Given the description of an element on the screen output the (x, y) to click on. 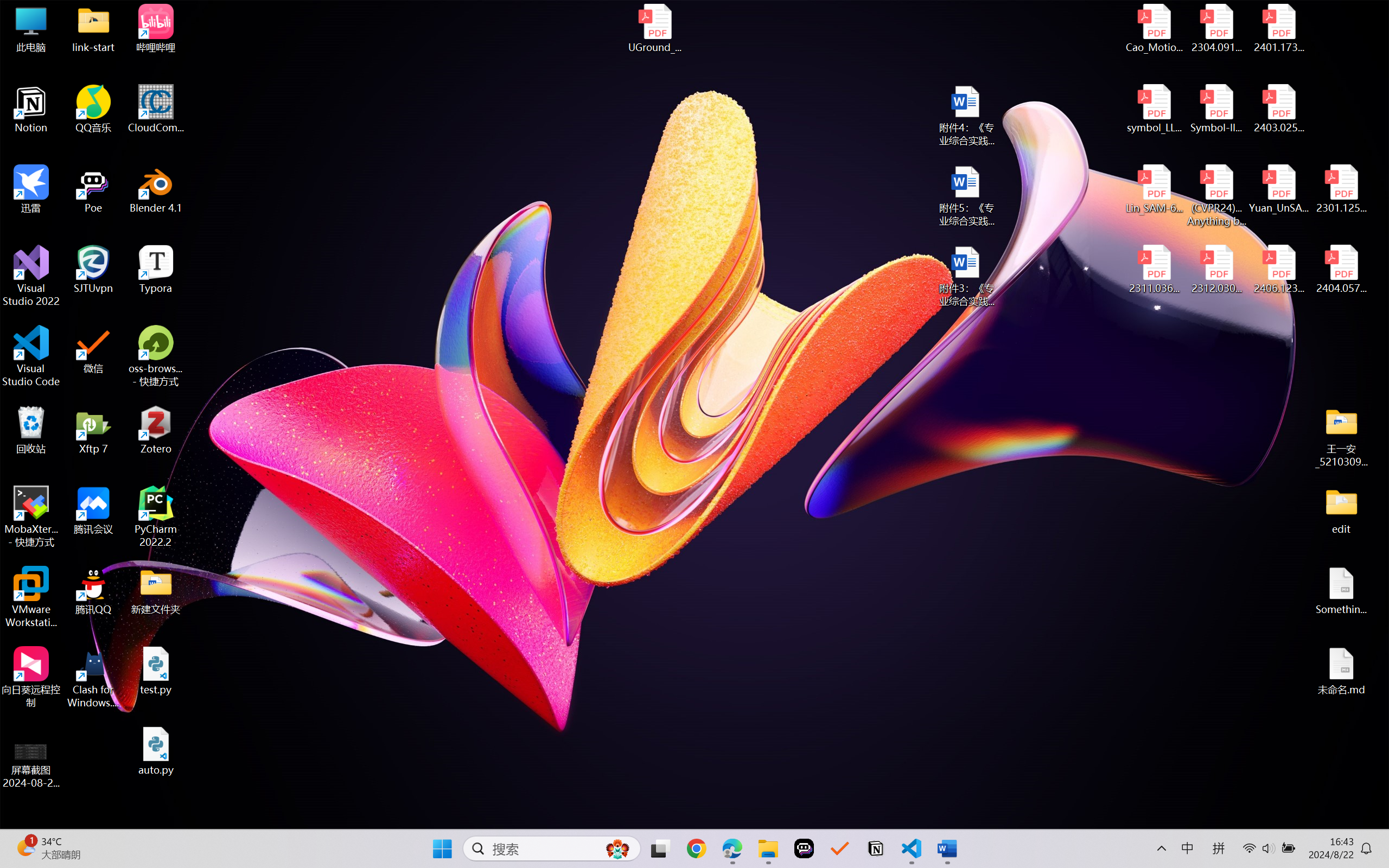
Visual Studio Code (31, 355)
Something.md (1340, 591)
symbol_LLM.pdf (1154, 109)
Typora (156, 269)
2304.09121v3.pdf (1216, 28)
Blender 4.1 (156, 189)
test.py (156, 670)
Google Chrome (696, 848)
